Given the description of an element on the screen output the (x, y) to click on. 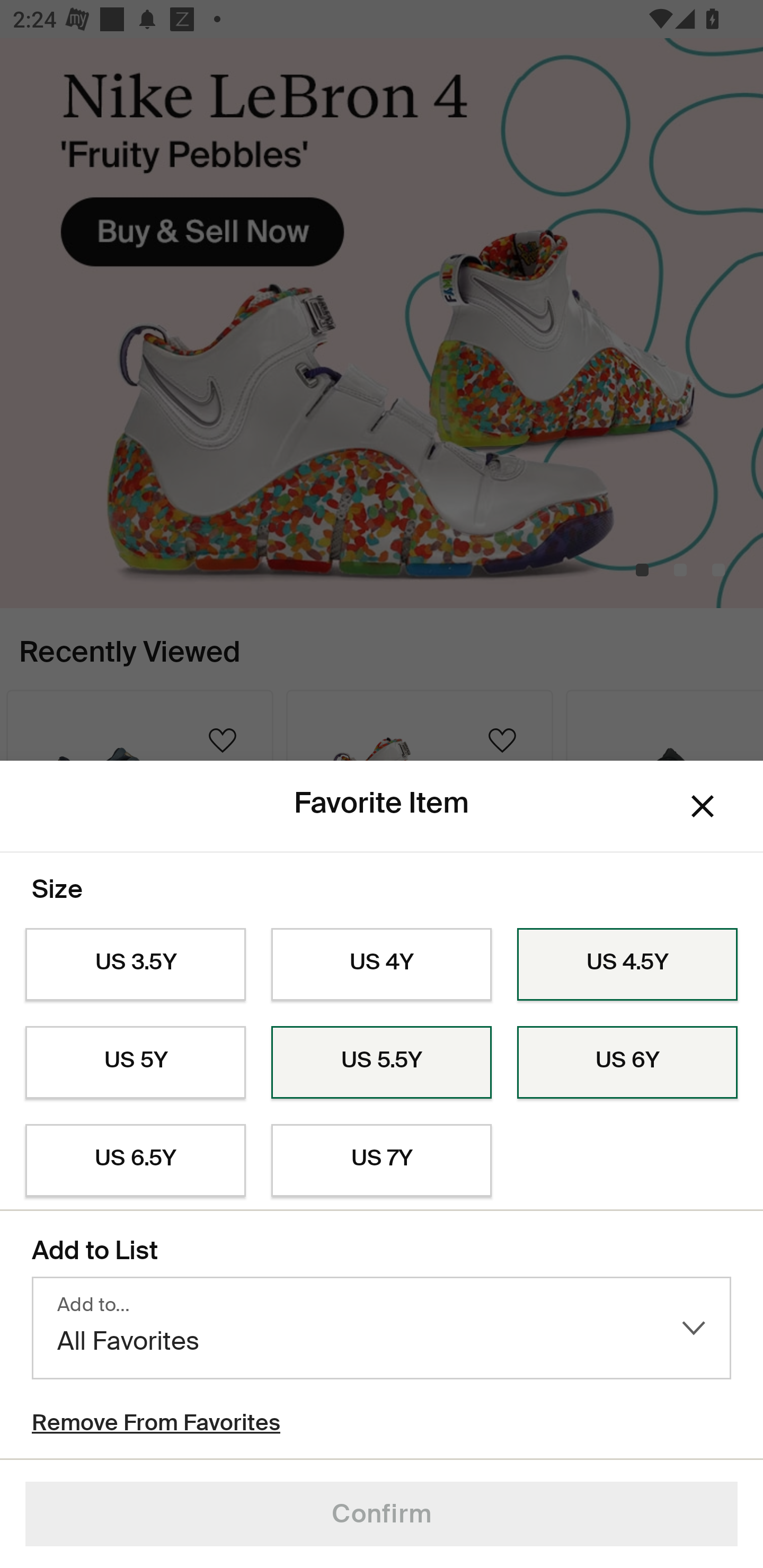
Dismiss (702, 806)
US 3.5Y (135, 964)
US 4Y (381, 964)
US 4.5Y (627, 964)
US 5Y (135, 1061)
US 5.5Y (381, 1061)
US 6Y (627, 1061)
US 6.5Y (135, 1160)
US 7Y (381, 1160)
Add to… All Favorites (381, 1327)
Remove From Favorites (156, 1424)
Confirm (381, 1513)
